Given the description of an element on the screen output the (x, y) to click on. 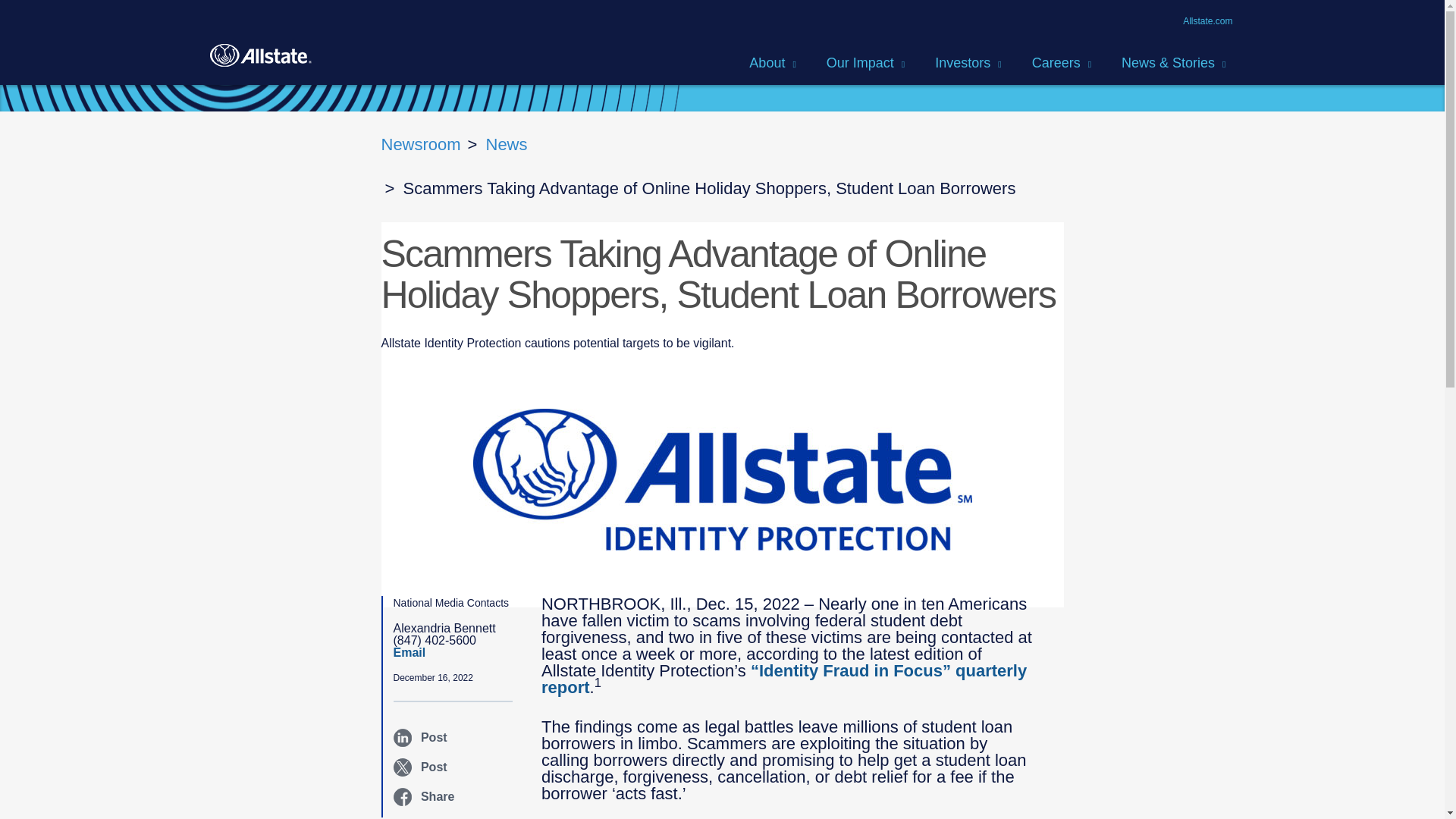
Investors (971, 63)
Careers (1064, 63)
Our Impact (869, 63)
About (775, 63)
Allstate.com (1207, 20)
Skip to main content (52, 6)
